Given the description of an element on the screen output the (x, y) to click on. 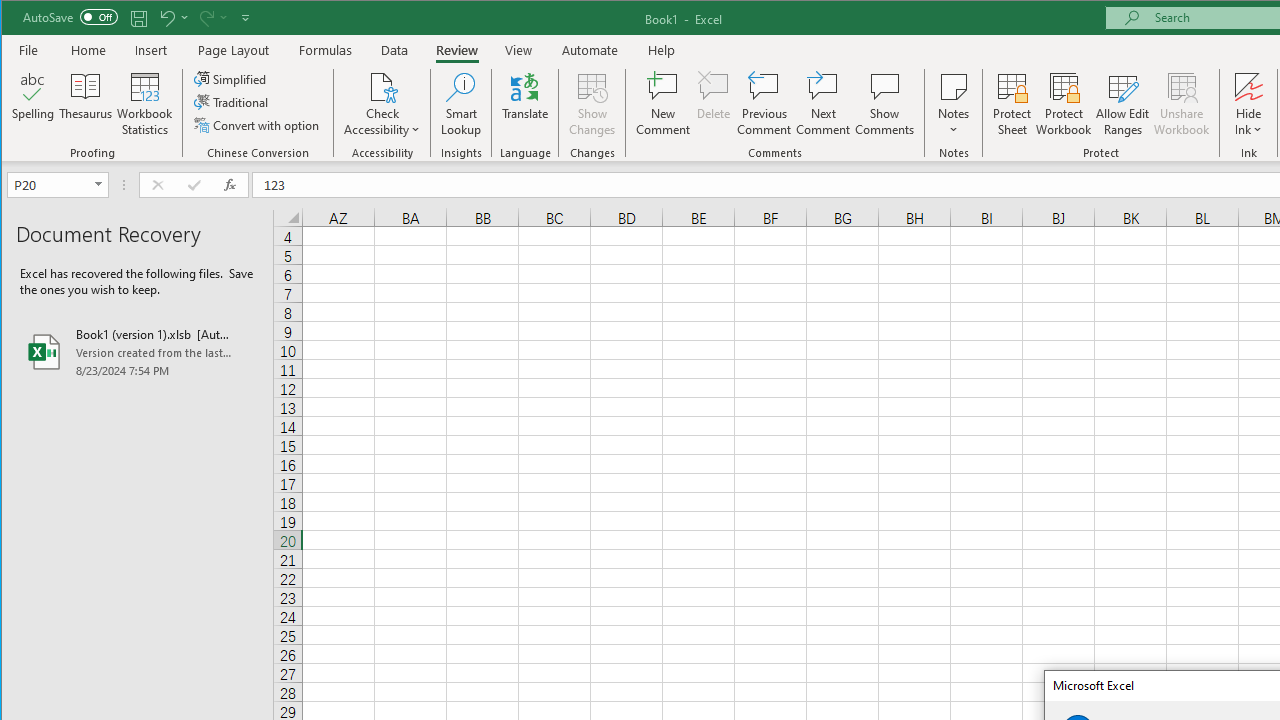
Translate (525, 104)
Allow Edit Ranges (1123, 104)
Spelling... (33, 104)
Delete (713, 104)
Hide Ink (1248, 104)
Show Comments (884, 104)
Automate (589, 50)
New Comment (662, 104)
Thesaurus... (86, 104)
